Given the description of an element on the screen output the (x, y) to click on. 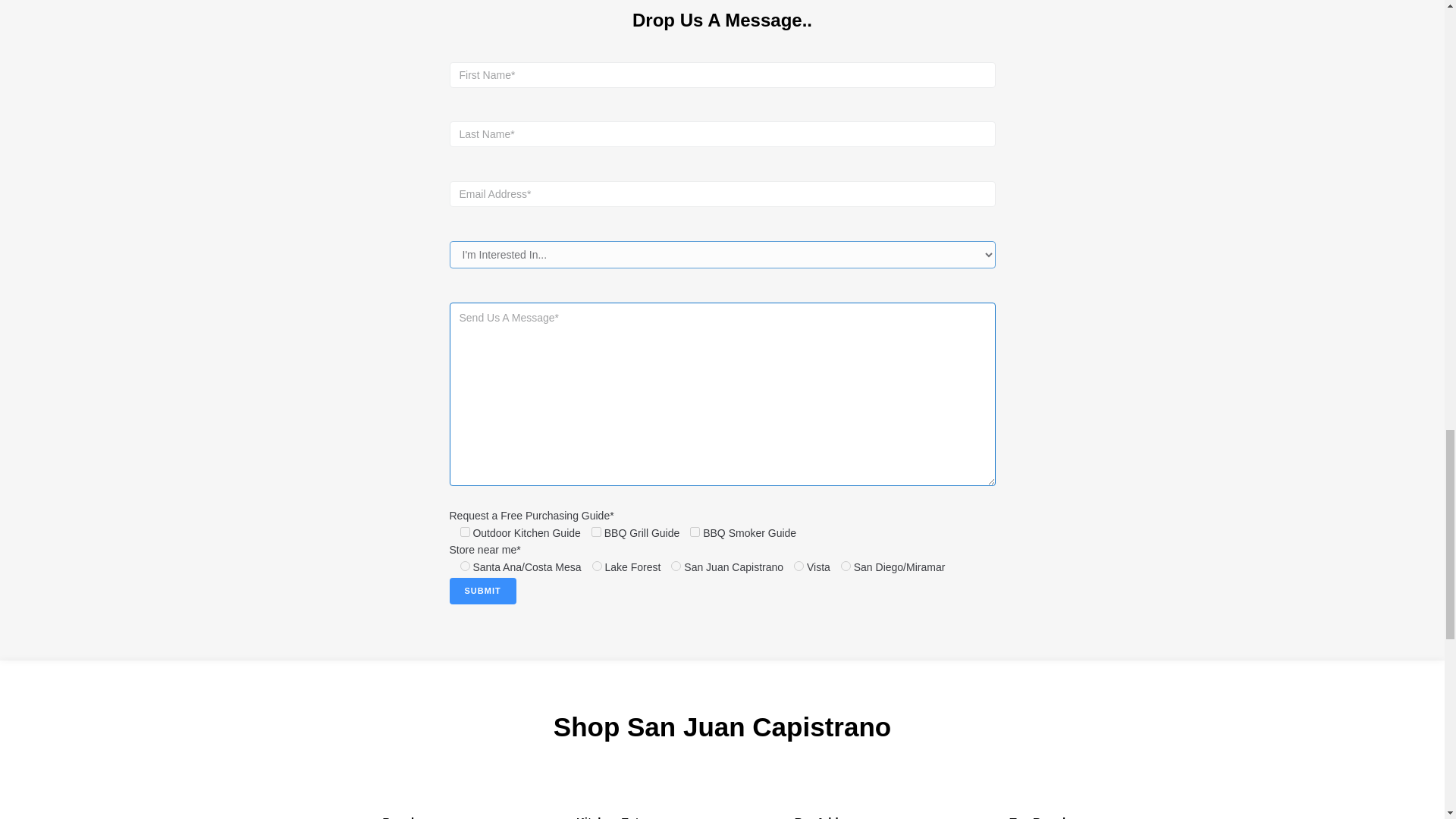
Vista (798, 565)
BBQ Smoker Guide (695, 532)
Submit (481, 591)
BBQ Grill Guide (596, 532)
Outdoor Kitchen Guide (464, 532)
San Juan Capistrano (676, 565)
Lake Forest (597, 565)
